Given the description of an element on the screen output the (x, y) to click on. 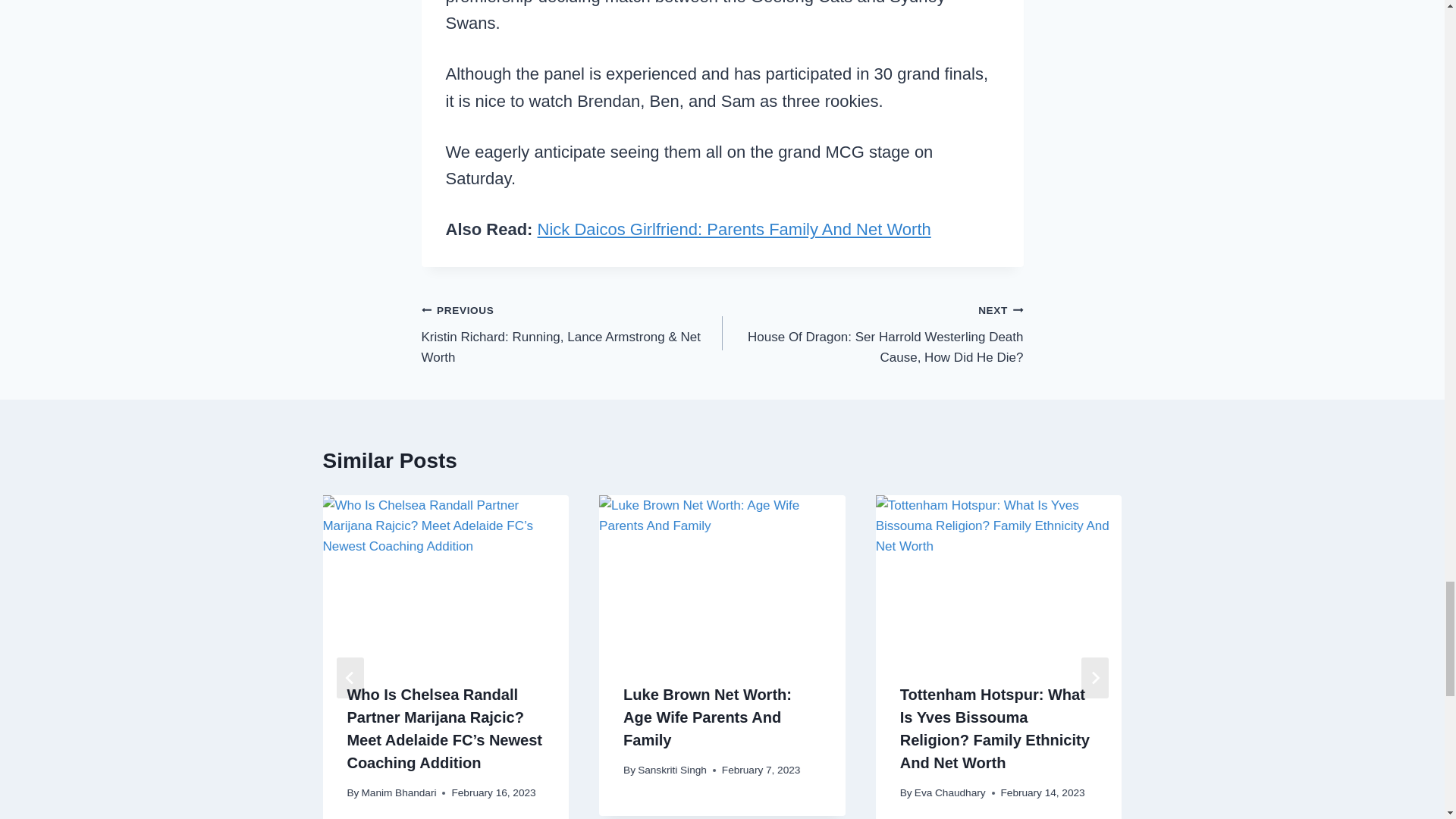
Nick Daicos Girlfriend: Parents Family And Net Worth (734, 229)
Luke Brown Net Worth: Age Wife Parents And Family (721, 577)
